Given the description of an element on the screen output the (x, y) to click on. 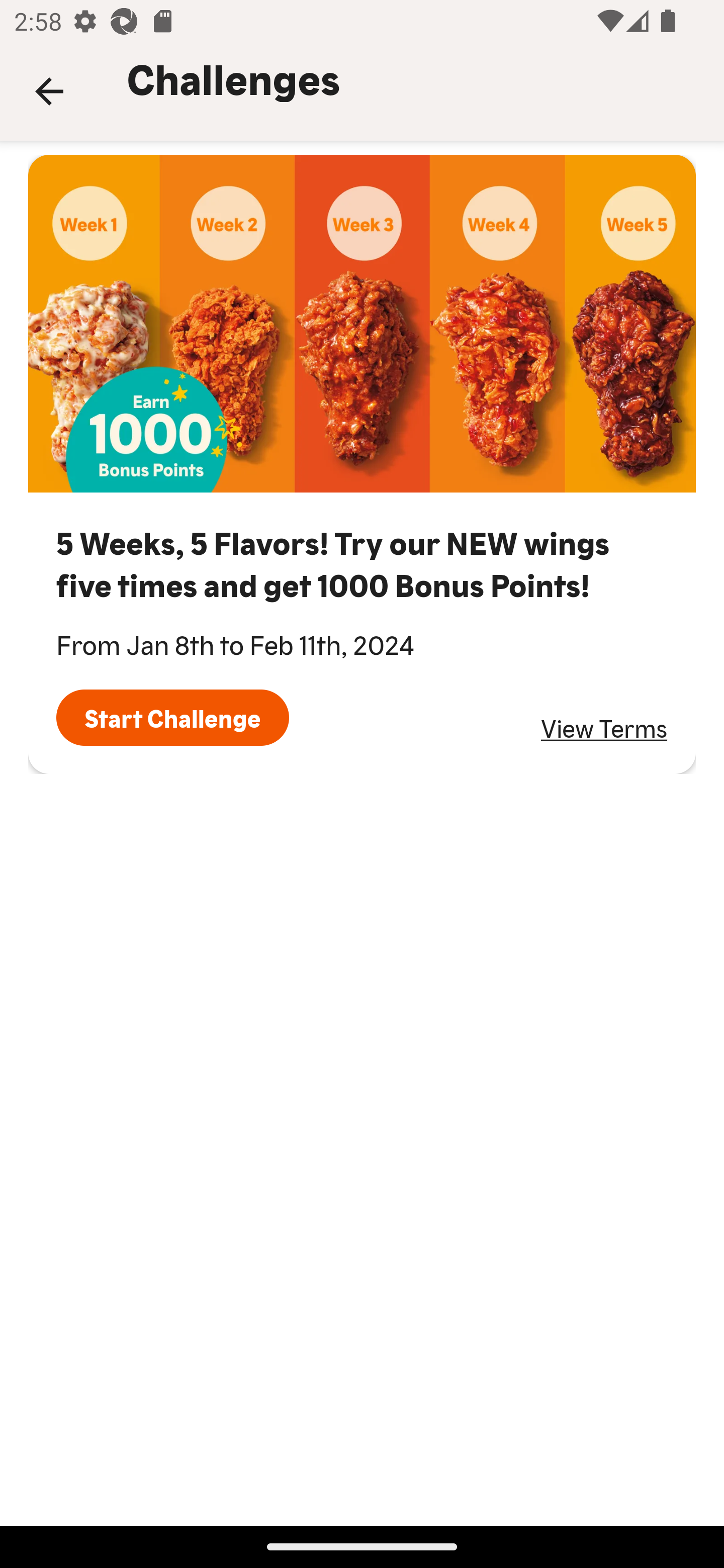
Navigate up (49, 91)
quest image (361, 323)
Start Challenge (172, 717)
View Terms (603, 727)
